Given the description of an element on the screen output the (x, y) to click on. 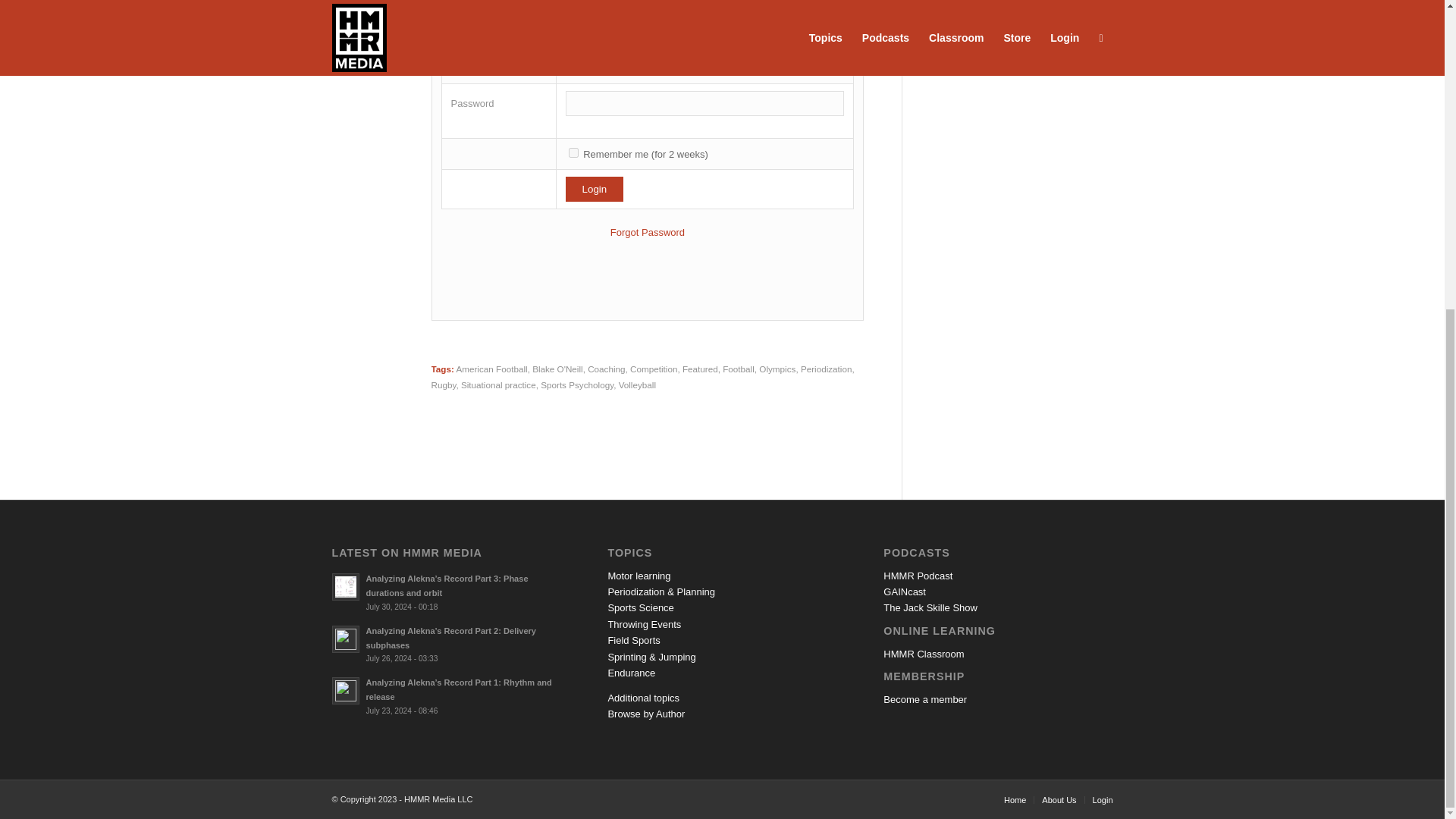
Login (595, 188)
Login (595, 188)
rememberMe (573, 153)
Forgot Password (647, 232)
